Given the description of an element on the screen output the (x, y) to click on. 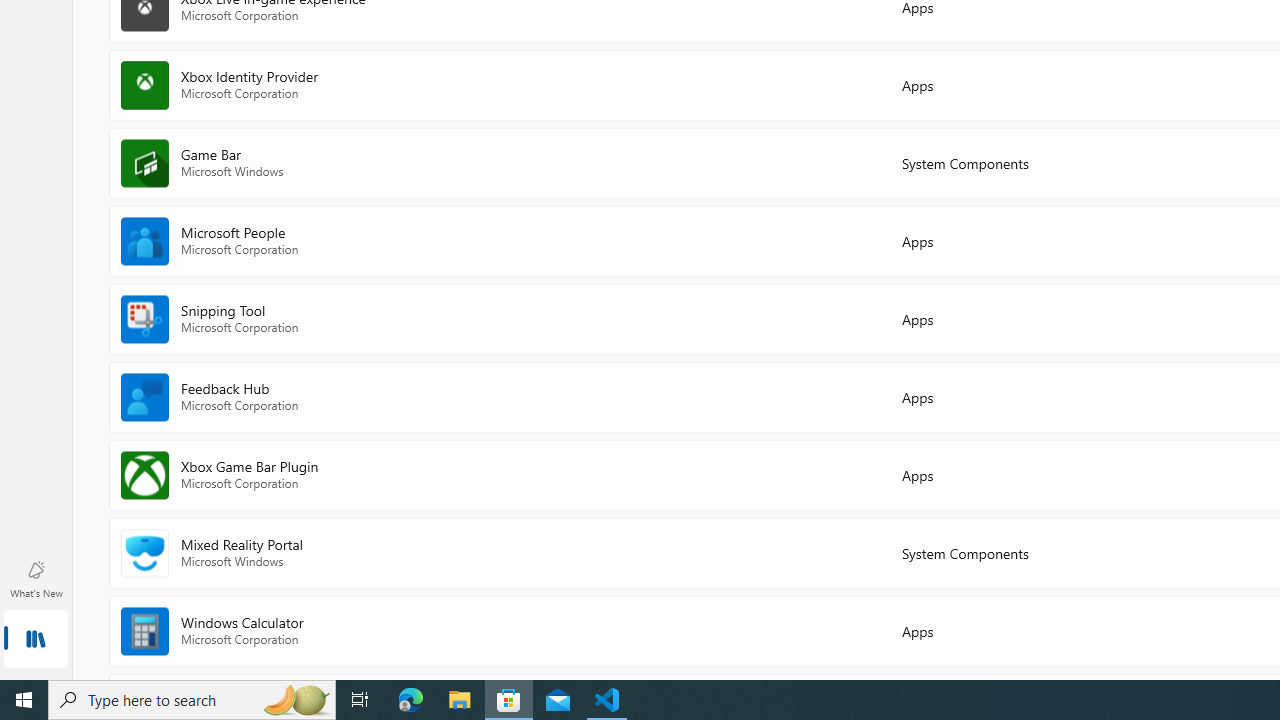
What's New (35, 578)
Library (35, 640)
